Given the description of an element on the screen output the (x, y) to click on. 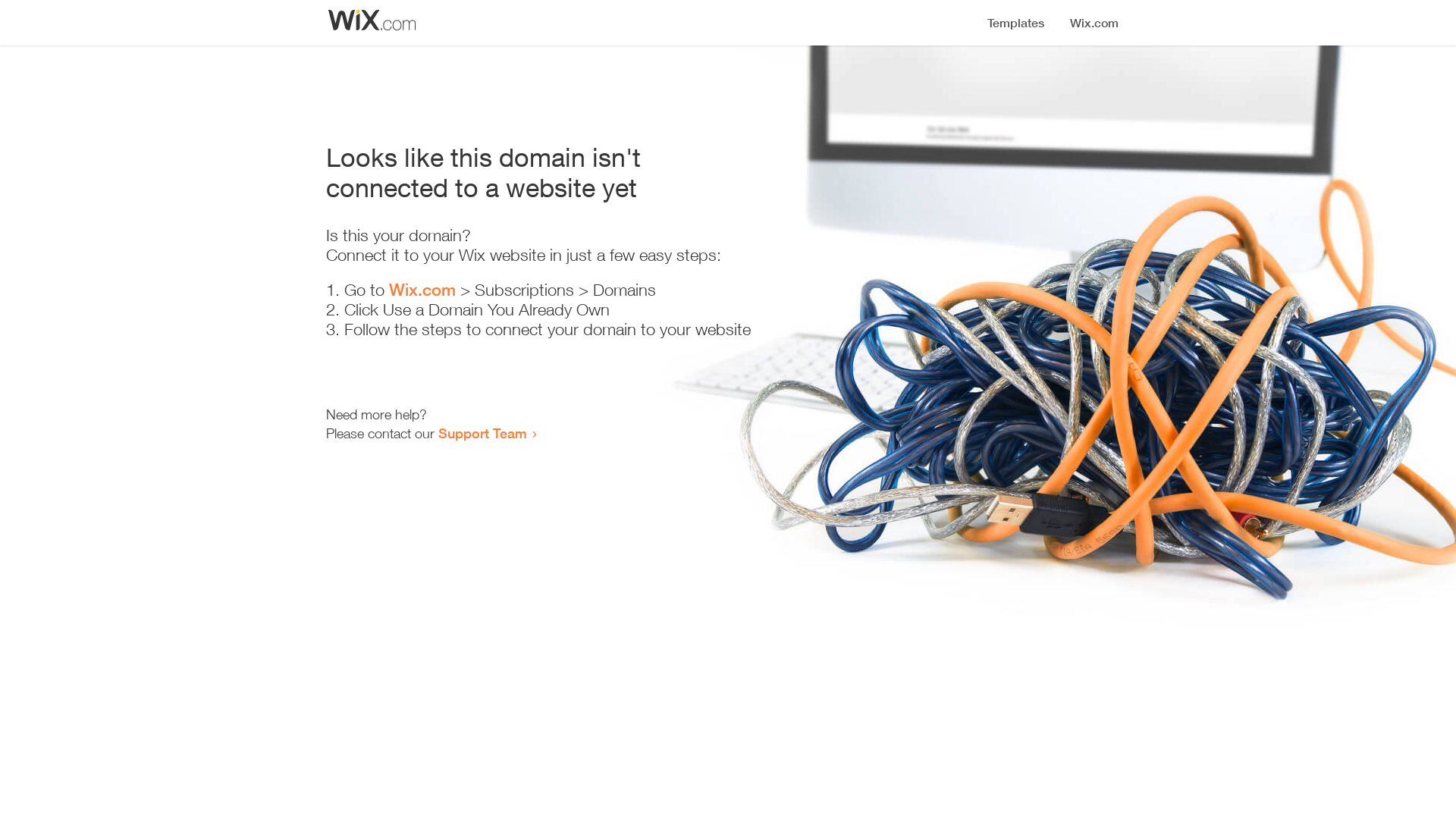
Wix.com Element type: text (422, 289)
Support Team Element type: text (482, 432)
